Given the description of an element on the screen output the (x, y) to click on. 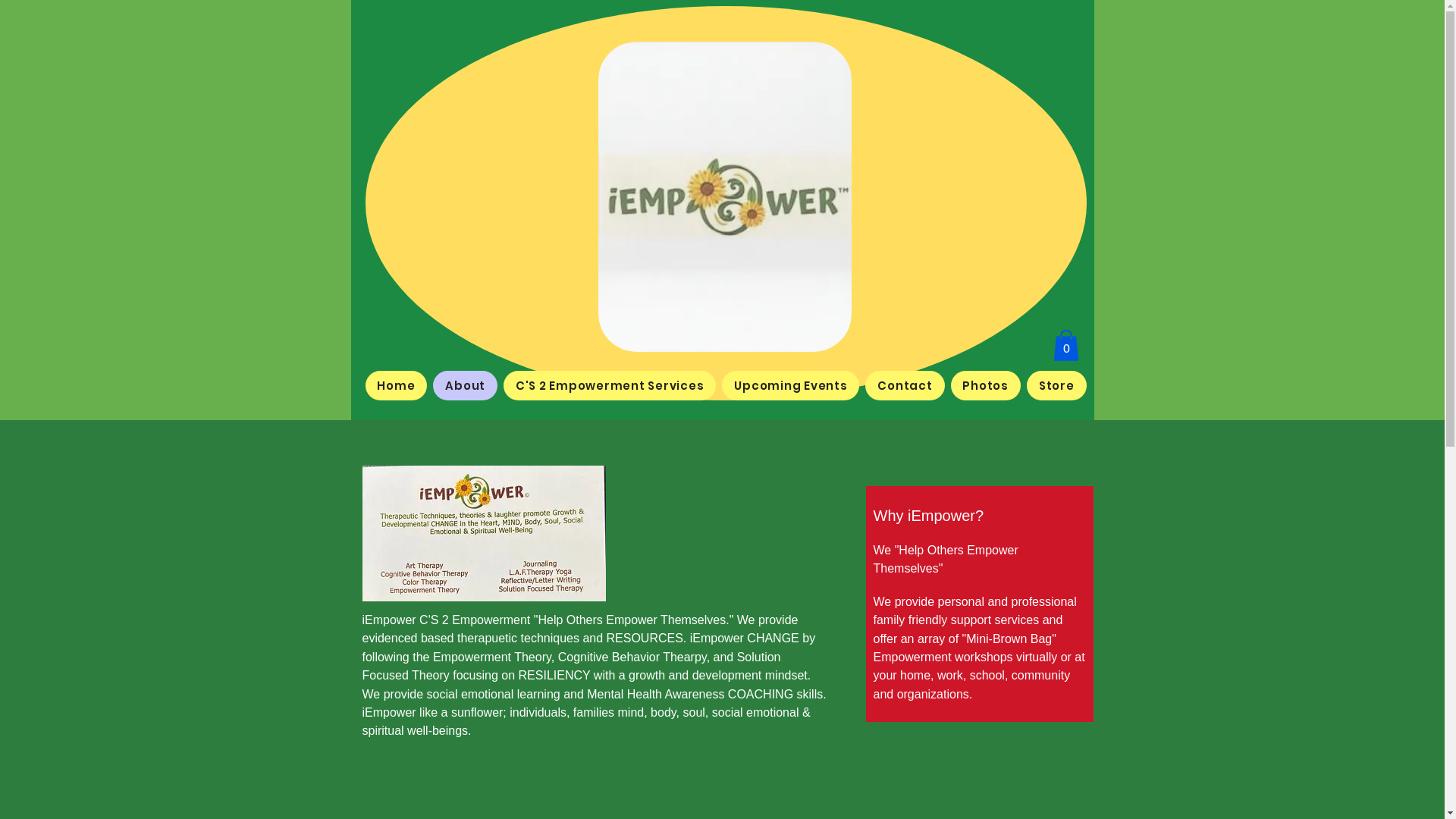
Home Element type: text (396, 385)
C'S 2 Empowerment Services Element type: text (609, 385)
0 Element type: text (1065, 344)
About Element type: text (465, 385)
Upcoming Events Element type: text (790, 385)
Store Element type: text (1056, 385)
Photos Element type: text (985, 385)
Contact Element type: text (904, 385)
